Given the description of an element on the screen output the (x, y) to click on. 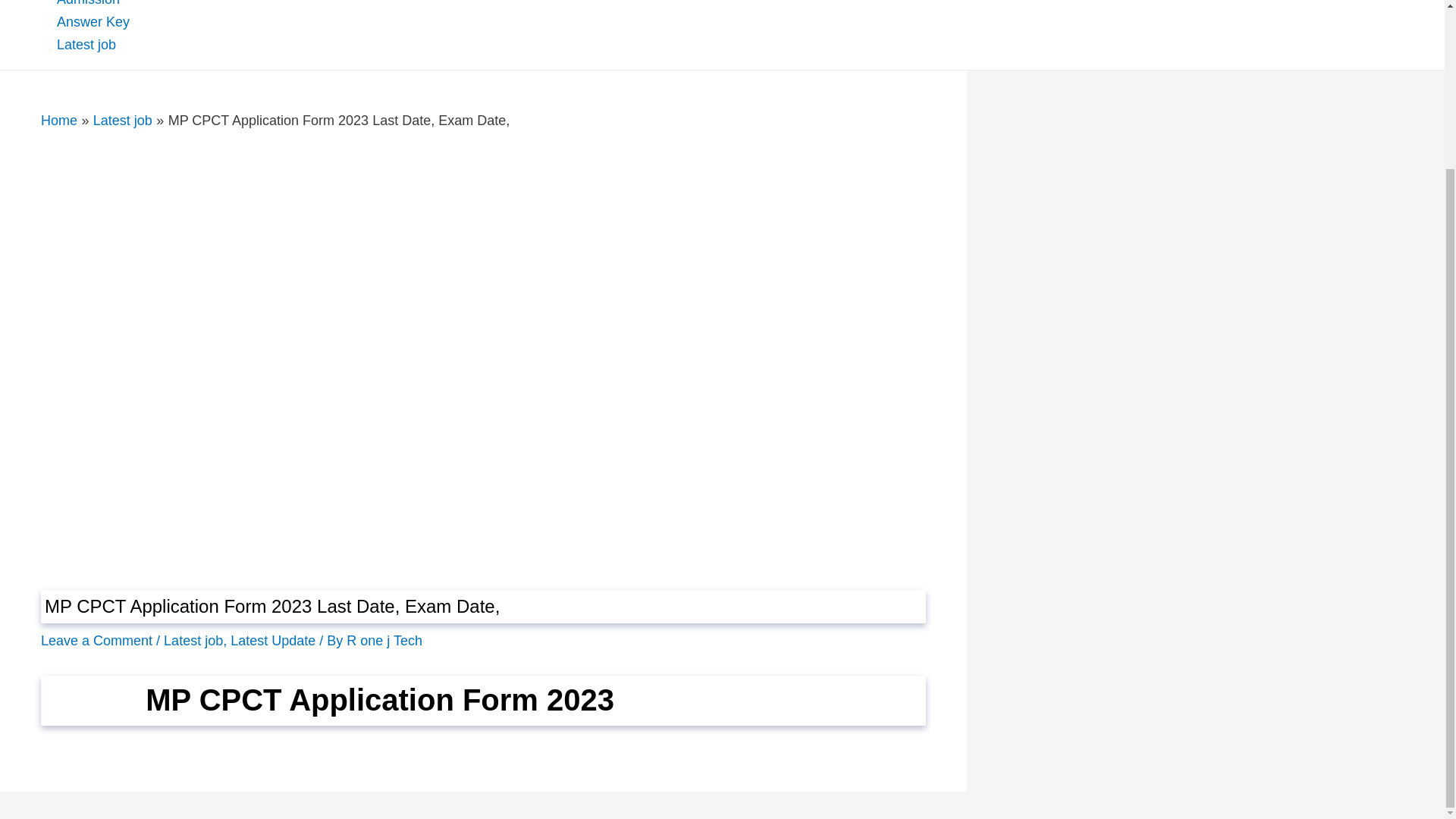
Latest job (122, 120)
Answer Key (104, 21)
Latest job (192, 640)
R one j Tech (384, 640)
Home (58, 120)
Leave a Comment (96, 640)
Latest Update (272, 640)
Admission (104, 5)
Latest job (104, 44)
View all posts by R one j Tech (384, 640)
